Given the description of an element on the screen output the (x, y) to click on. 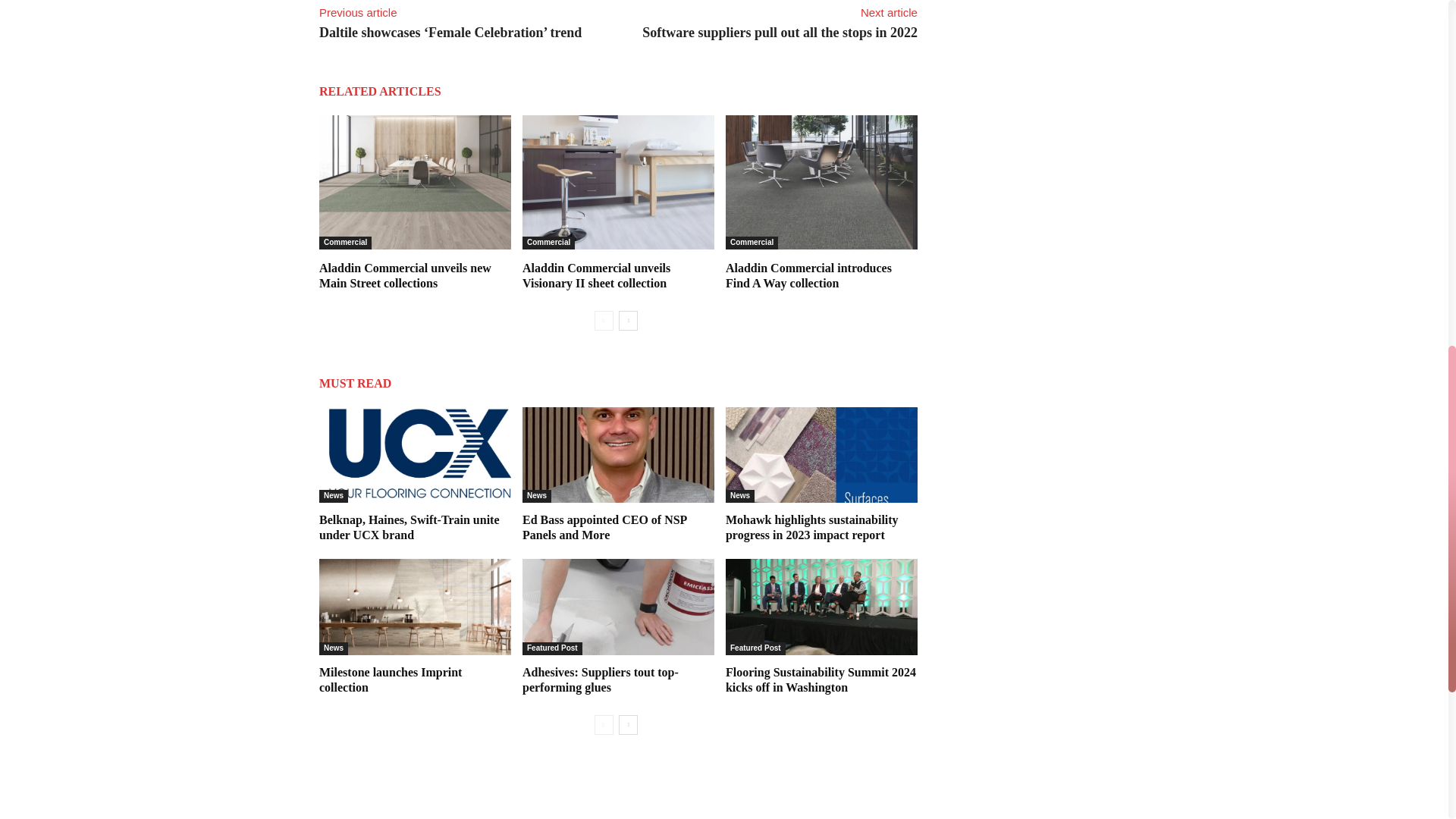
Ed Bass appointed CEO of NSP Panels and More (618, 454)
Ed Bass appointed CEO of NSP Panels and More (604, 527)
Aladdin Commercial unveils Visionary II sheet collection (595, 275)
Aladdin Commercial unveils Visionary II sheet collection (618, 182)
Belknap, Haines, Swift-Train unite under UCX brand (414, 454)
Aladdin Commercial unveils new Main Street collections (405, 275)
Aladdin Commercial introduces Find A Way collection (808, 275)
Aladdin Commercial unveils new Main Street collections (414, 182)
Aladdin Commercial introduces Find A Way collection (821, 182)
Belknap, Haines, Swift-Train unite under UCX brand (408, 527)
